Given the description of an element on the screen output the (x, y) to click on. 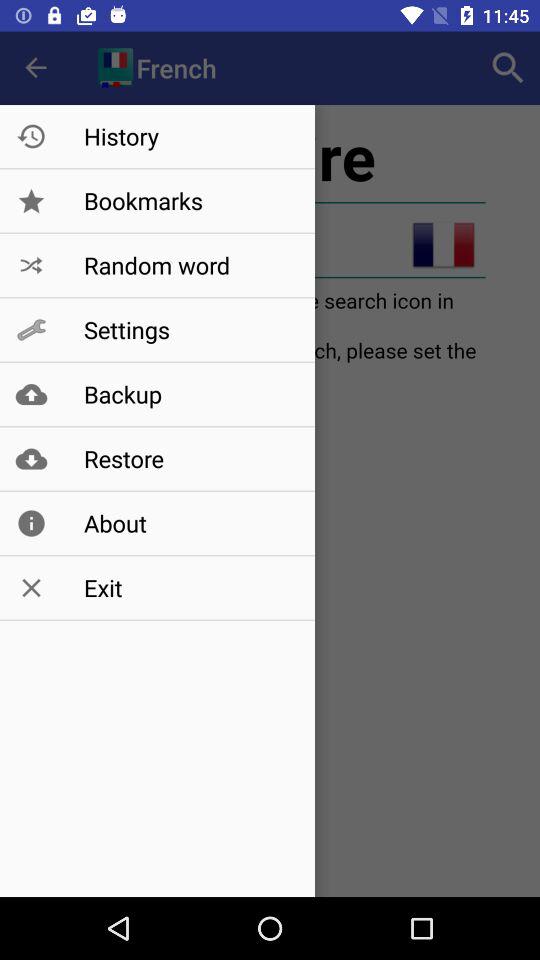
click settings icon (188, 329)
